Given the description of an element on the screen output the (x, y) to click on. 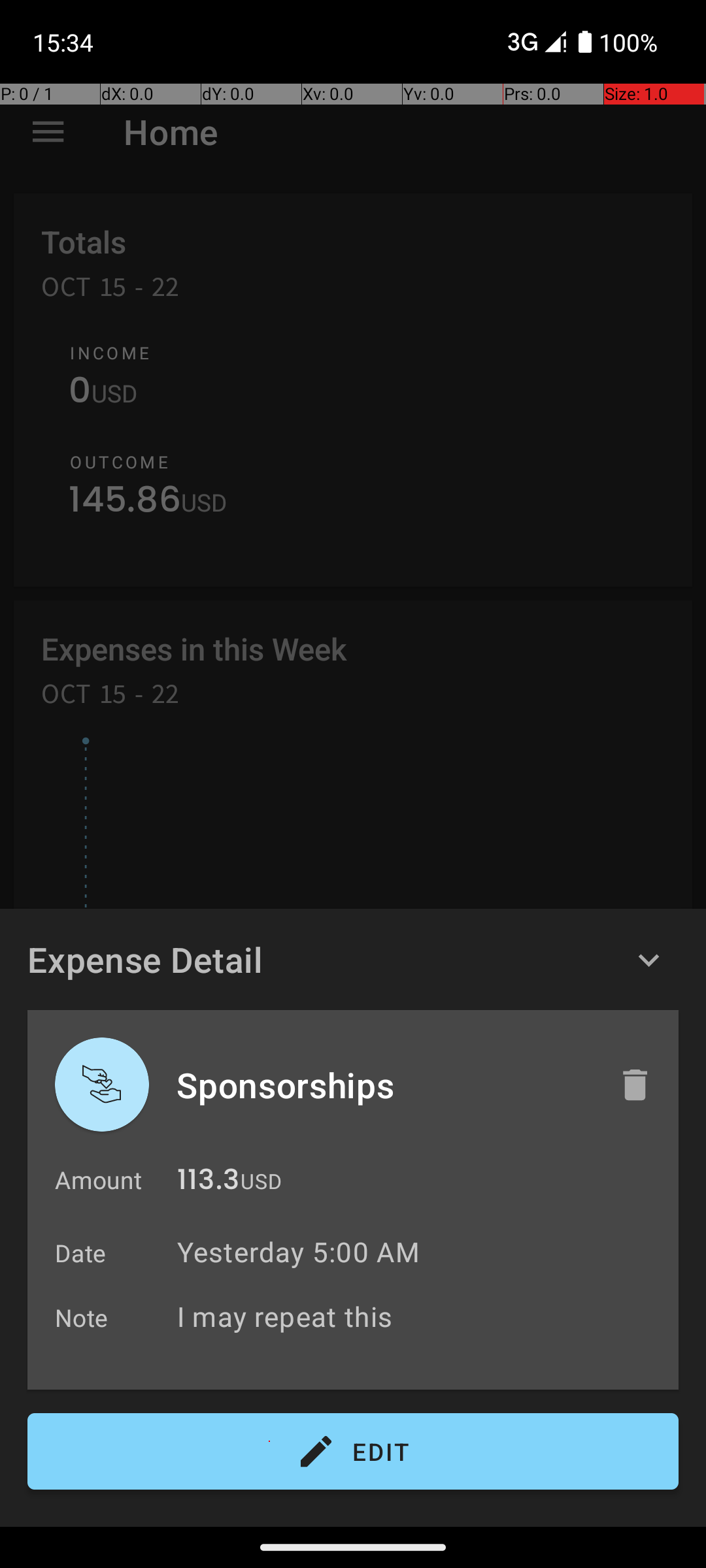
Expense Detail Element type: android.widget.TextView (145, 959)
Sponsorships Element type: android.widget.TextView (383, 1084)
Amount Element type: android.widget.TextView (97, 1179)
113.3 Element type: android.widget.TextView (207, 1182)
USD Element type: android.widget.TextView (260, 1180)
Date Element type: android.widget.TextView (80, 1252)
Yesterday 5:00 AM Element type: android.widget.TextView (298, 1251)
Note Element type: android.widget.TextView (81, 1317)
I may repeat this Element type: android.widget.TextView (420, 1315)
EDIT Element type: android.widget.Button (352, 1451)
